Given the description of an element on the screen output the (x, y) to click on. 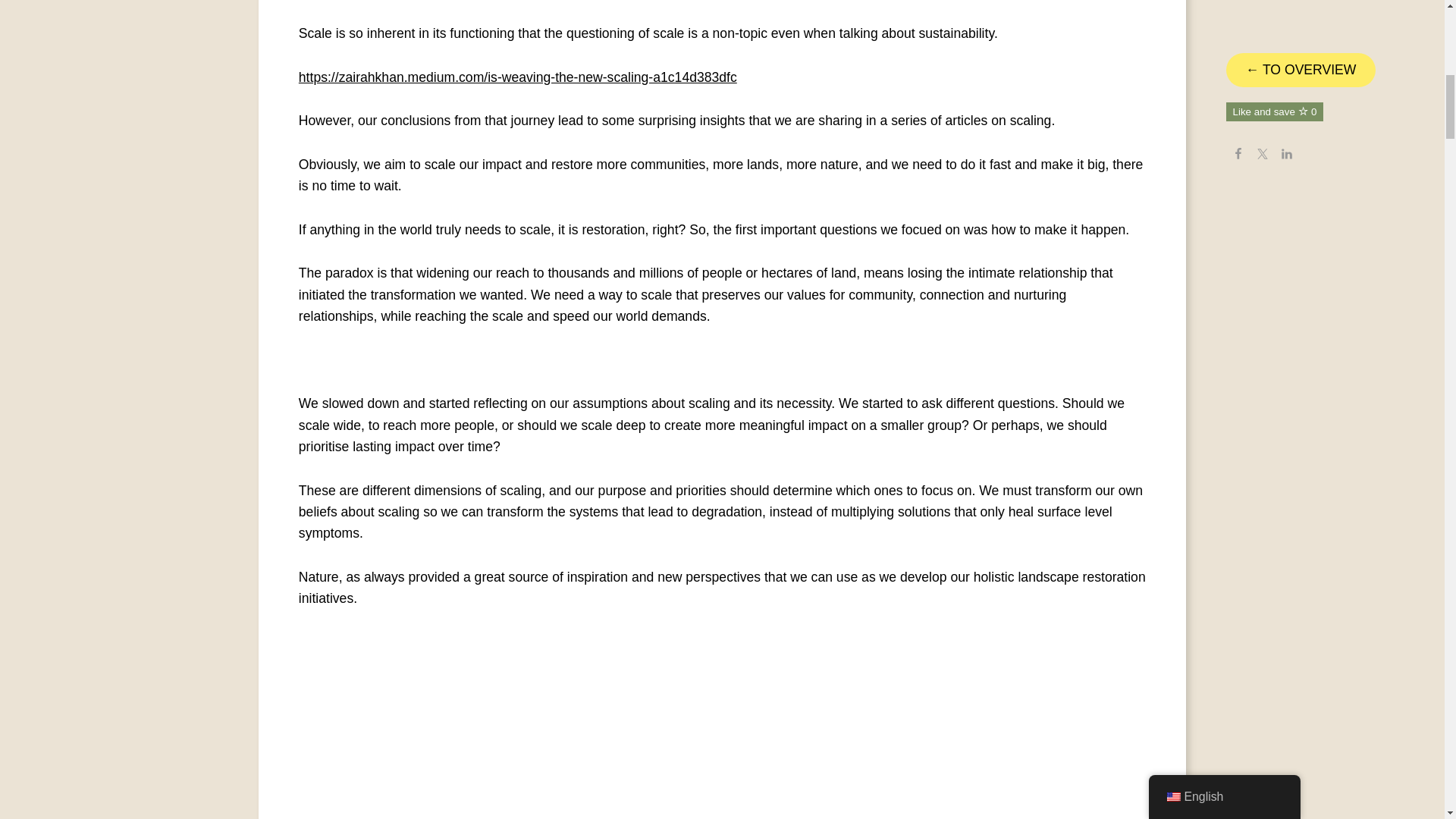
Share on LinkedIn (1286, 12)
Share on Twitter (1262, 12)
Share on Facebook (1237, 12)
